Given the description of an element on the screen output the (x, y) to click on. 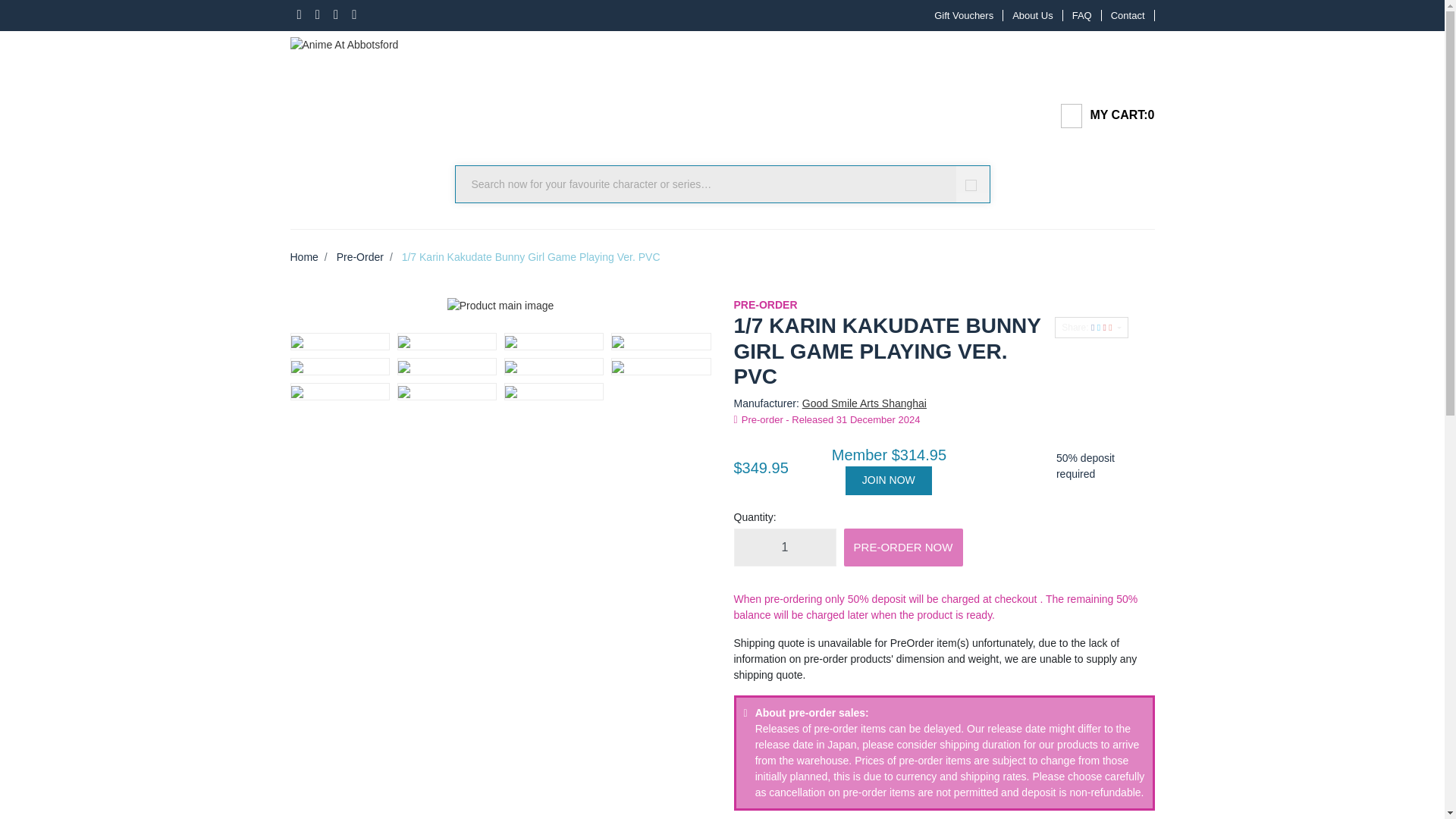
Contact (1128, 15)
Anime At Abbotsford (343, 40)
1 (784, 547)
Gift Vouchers (963, 15)
About Us (1032, 15)
MY CART:0 (1101, 116)
FAQ (1082, 15)
